Given the description of an element on the screen output the (x, y) to click on. 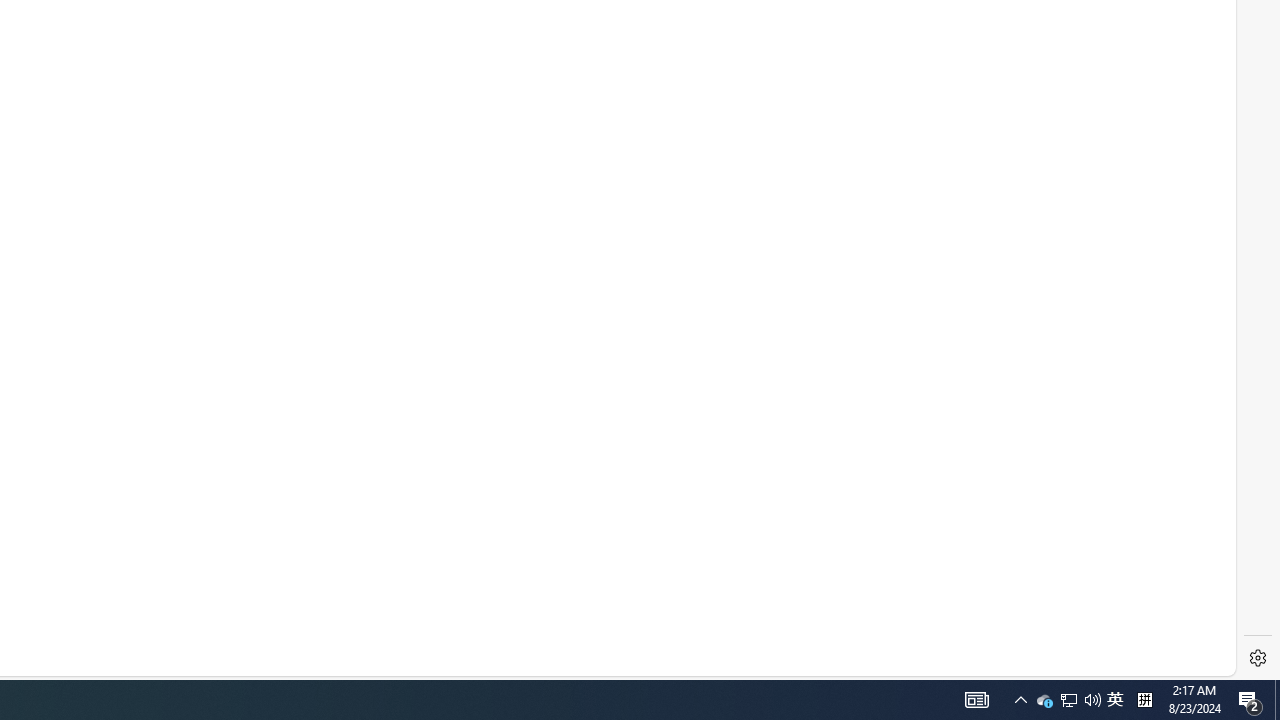
Settings (1258, 658)
